Given the description of an element on the screen output the (x, y) to click on. 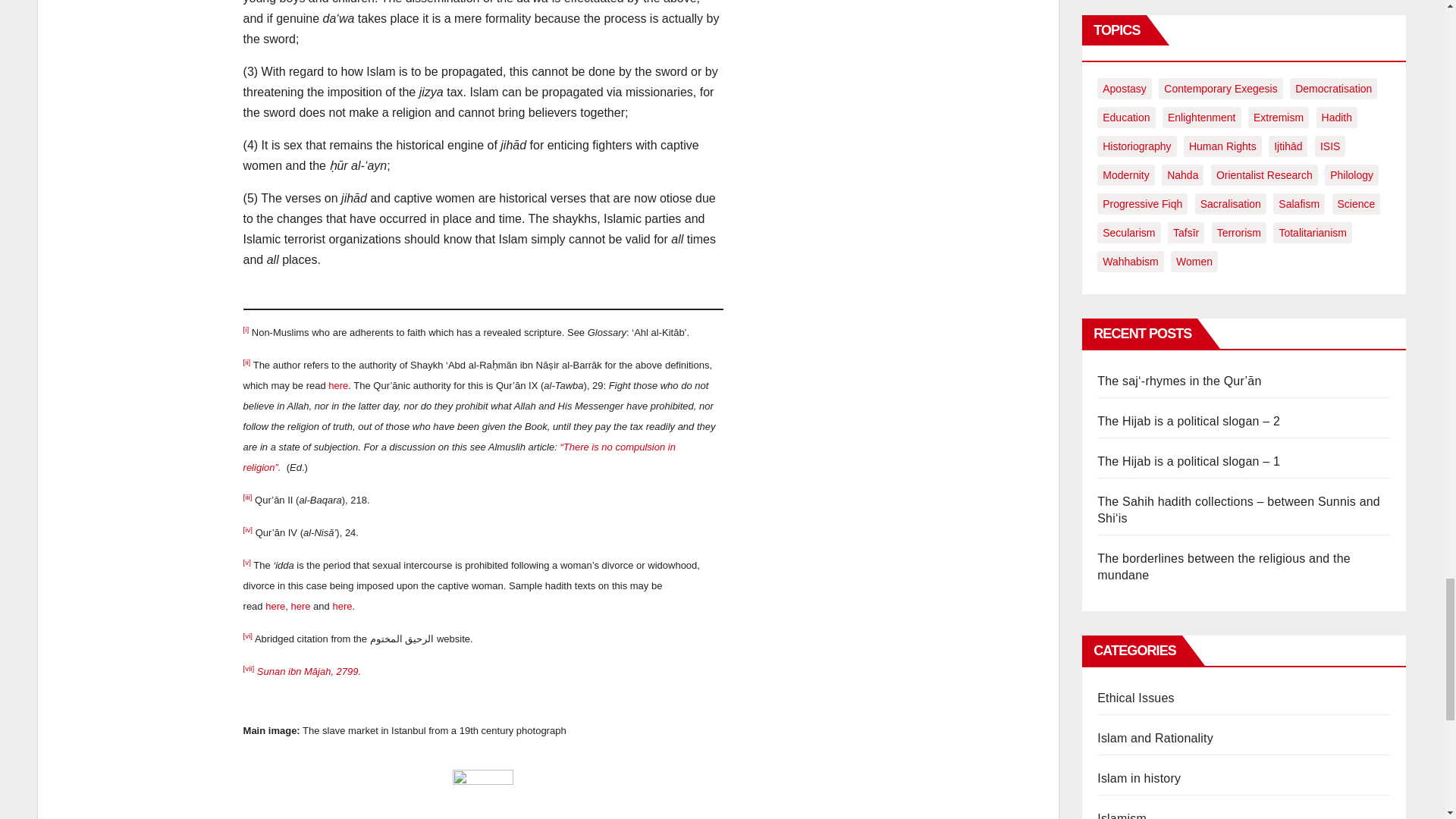
here (274, 605)
here (338, 385)
here (341, 605)
here (299, 605)
